Given the description of an element on the screen output the (x, y) to click on. 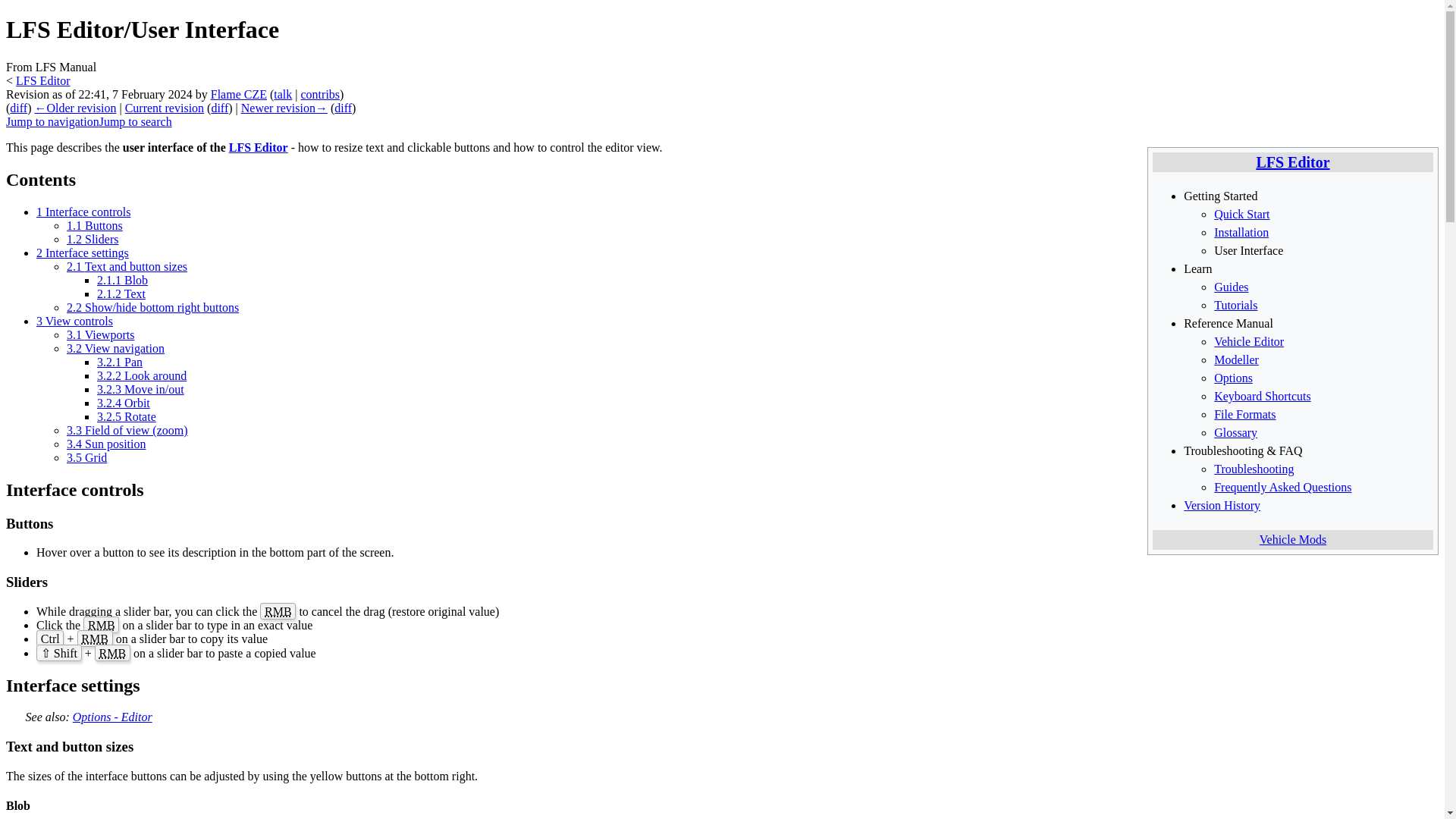
Modeller (1236, 359)
LFS Editor (258, 146)
Jump to search (135, 121)
Guides (1230, 286)
2 Interface settings (82, 252)
User:Flame CZE (238, 93)
LFS Editor (1292, 161)
Tutorials (1235, 305)
Version History (1221, 504)
1 Interface controls (83, 211)
LFS Editor (42, 80)
Current revision (164, 107)
Options (1233, 377)
2.1.1 Blob (122, 279)
Vehicle Mods (1292, 539)
